Given the description of an element on the screen output the (x, y) to click on. 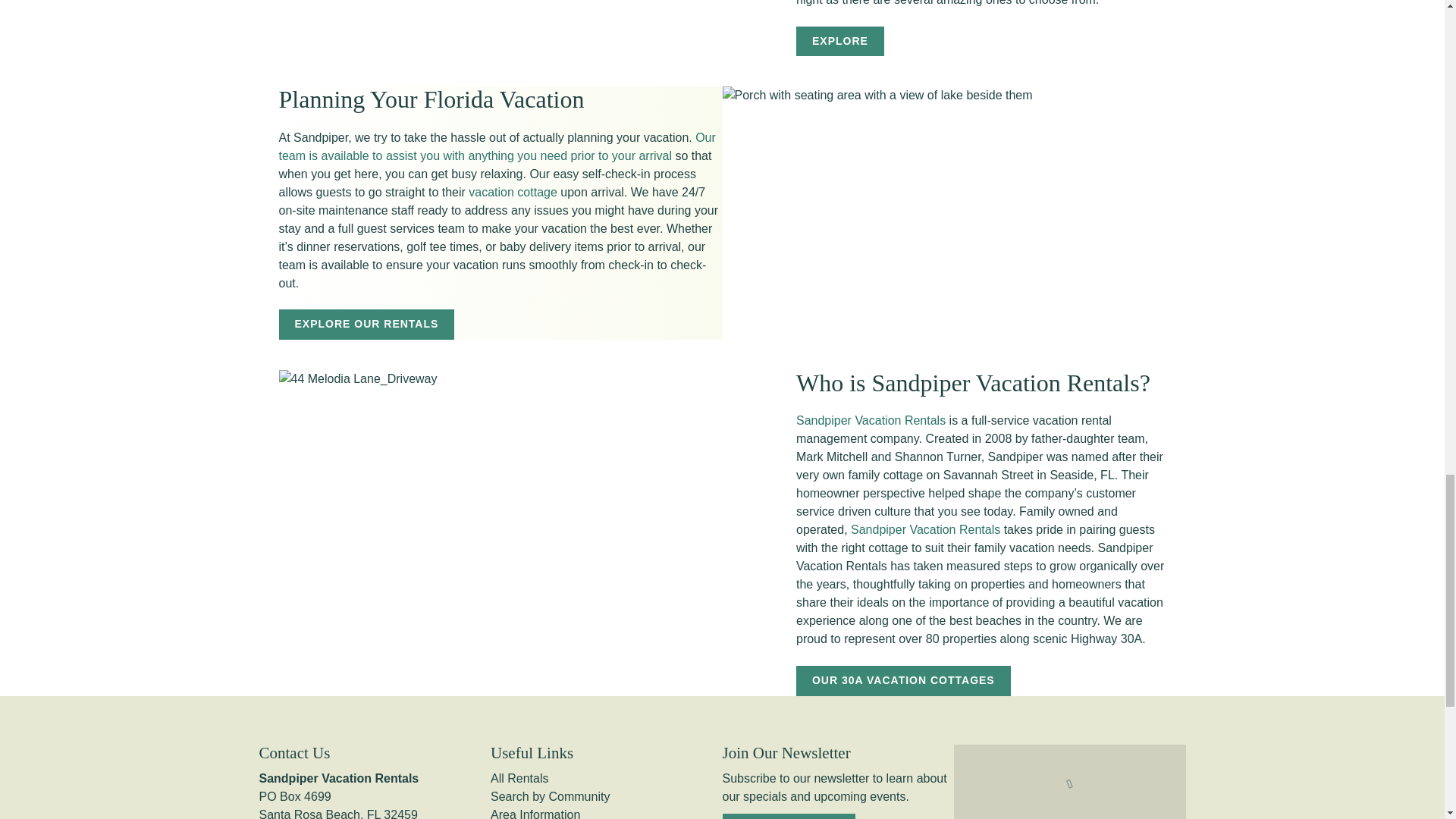
EXPLORE OUR RENTALS (366, 324)
OUR 30A VACATION COTTAGES (903, 680)
vacation cottage (512, 192)
Sandpiper Vacation Rentals (925, 529)
EXPLORE (839, 40)
Sandpiper Vacation Rentals (870, 420)
